Given the description of an element on the screen output the (x, y) to click on. 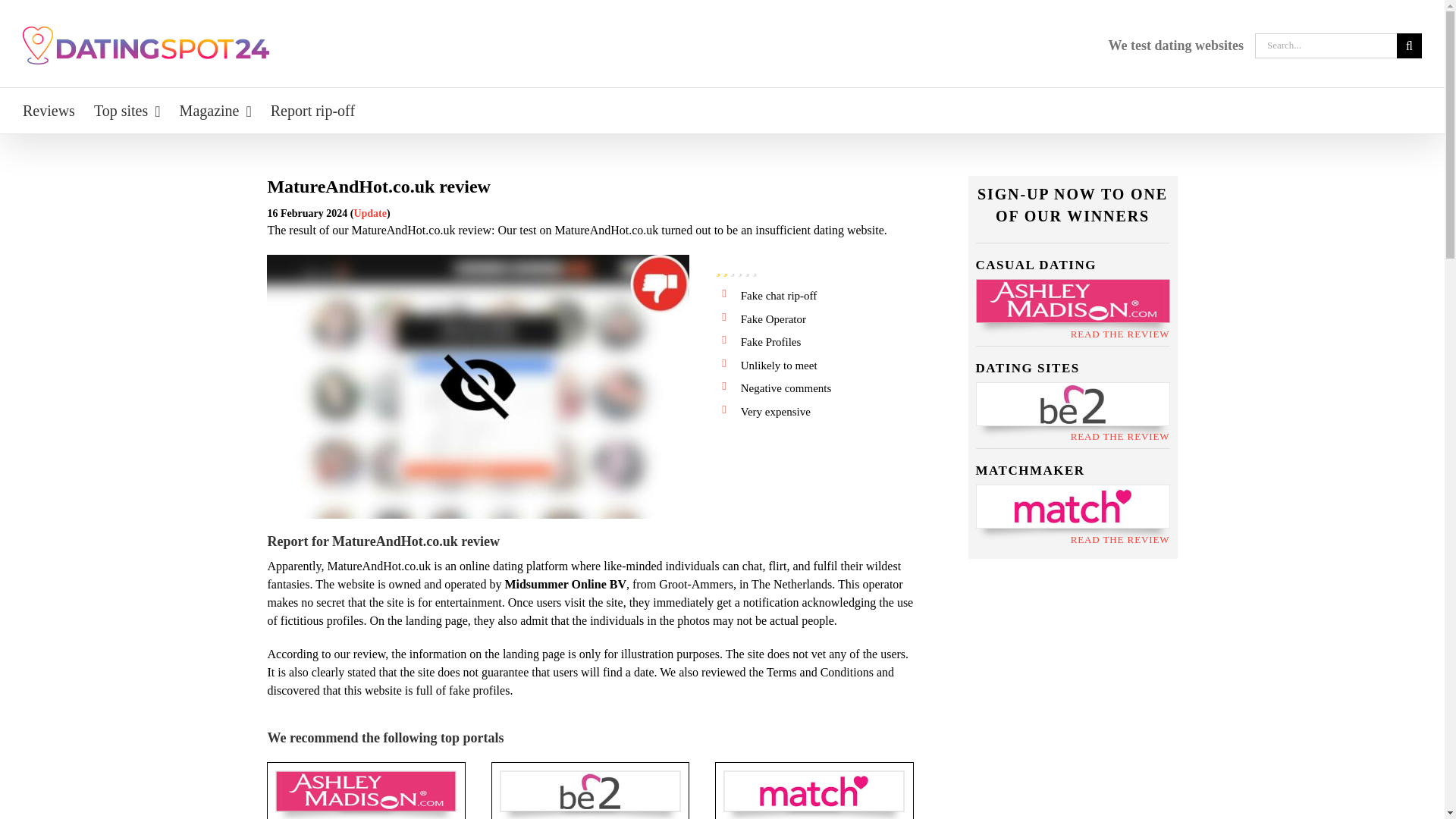
Report rip-off (312, 110)
Top sites (127, 110)
Review MatureAndHot.co.uk Scam (477, 386)
Reviews (49, 110)
Magazine (215, 110)
